Given the description of an element on the screen output the (x, y) to click on. 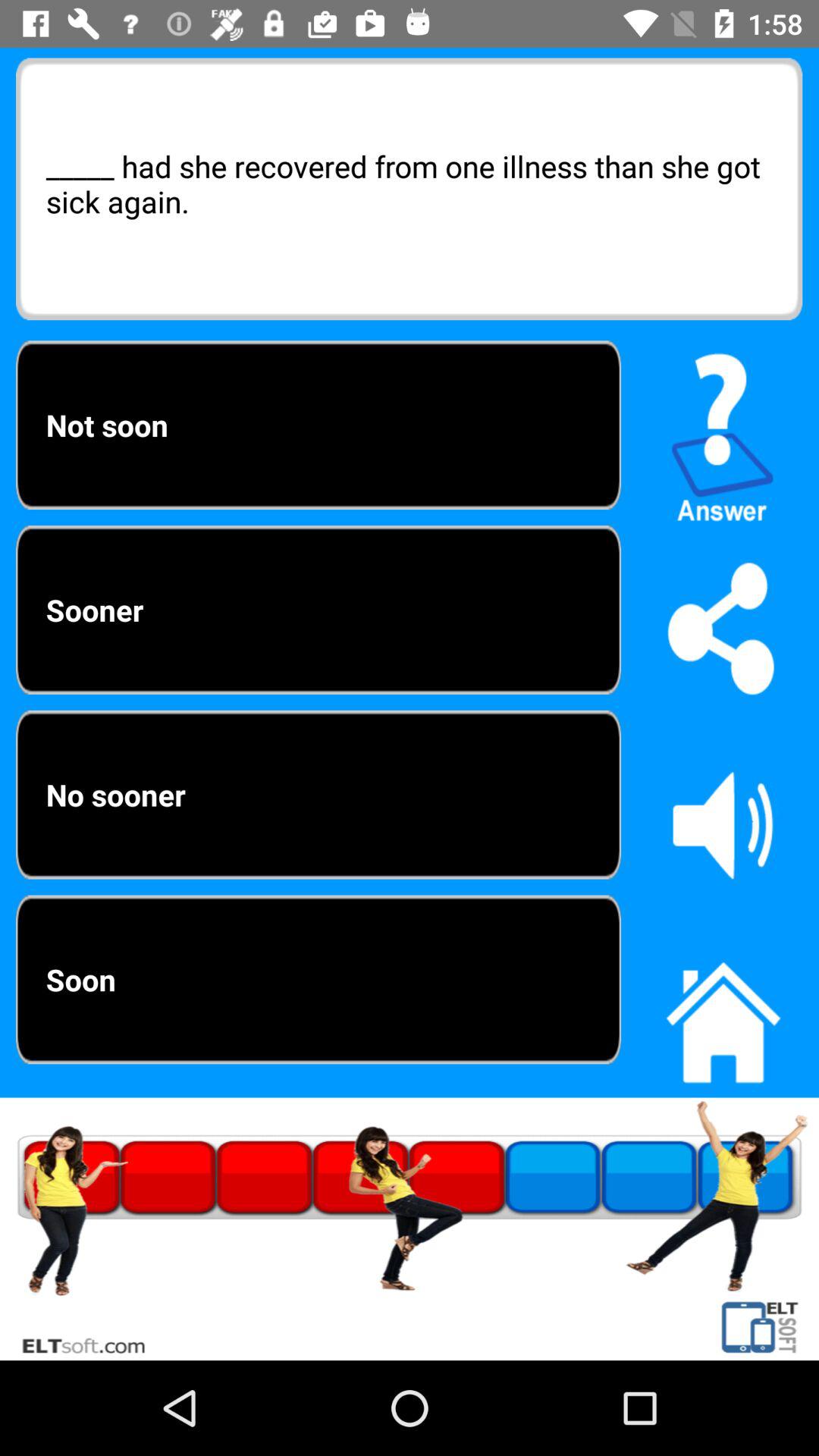
shows share option (723, 627)
